Given the description of an element on the screen output the (x, y) to click on. 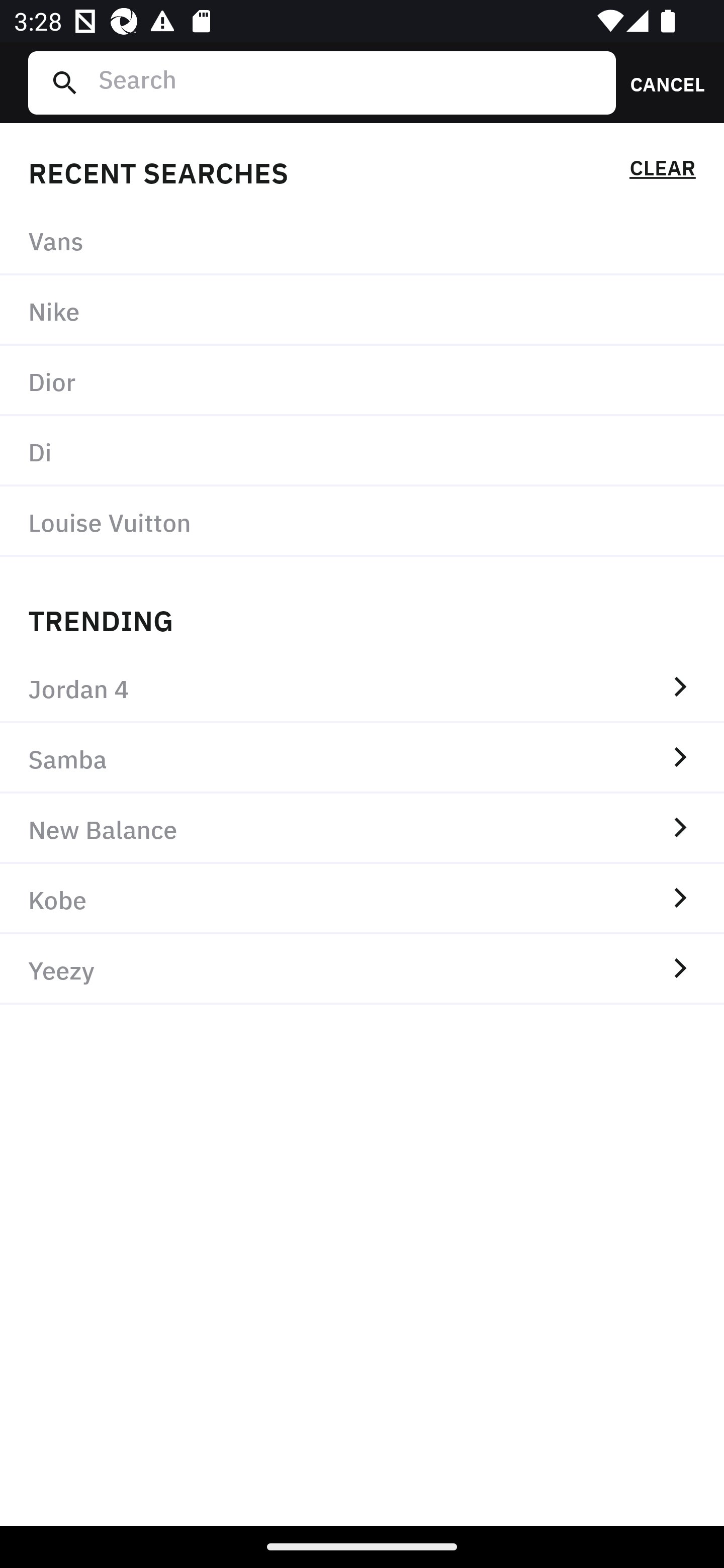
CANCEL (660, 82)
Search (349, 82)
CLEAR (662, 170)
Vans (362, 240)
Nike (362, 310)
Dior (362, 380)
Di (362, 450)
Louise Vuitton (362, 521)
Jordan 4  (362, 687)
Samba  (362, 757)
New Balance  (362, 828)
Kobe  (362, 898)
Yeezy  (362, 969)
